Given the description of an element on the screen output the (x, y) to click on. 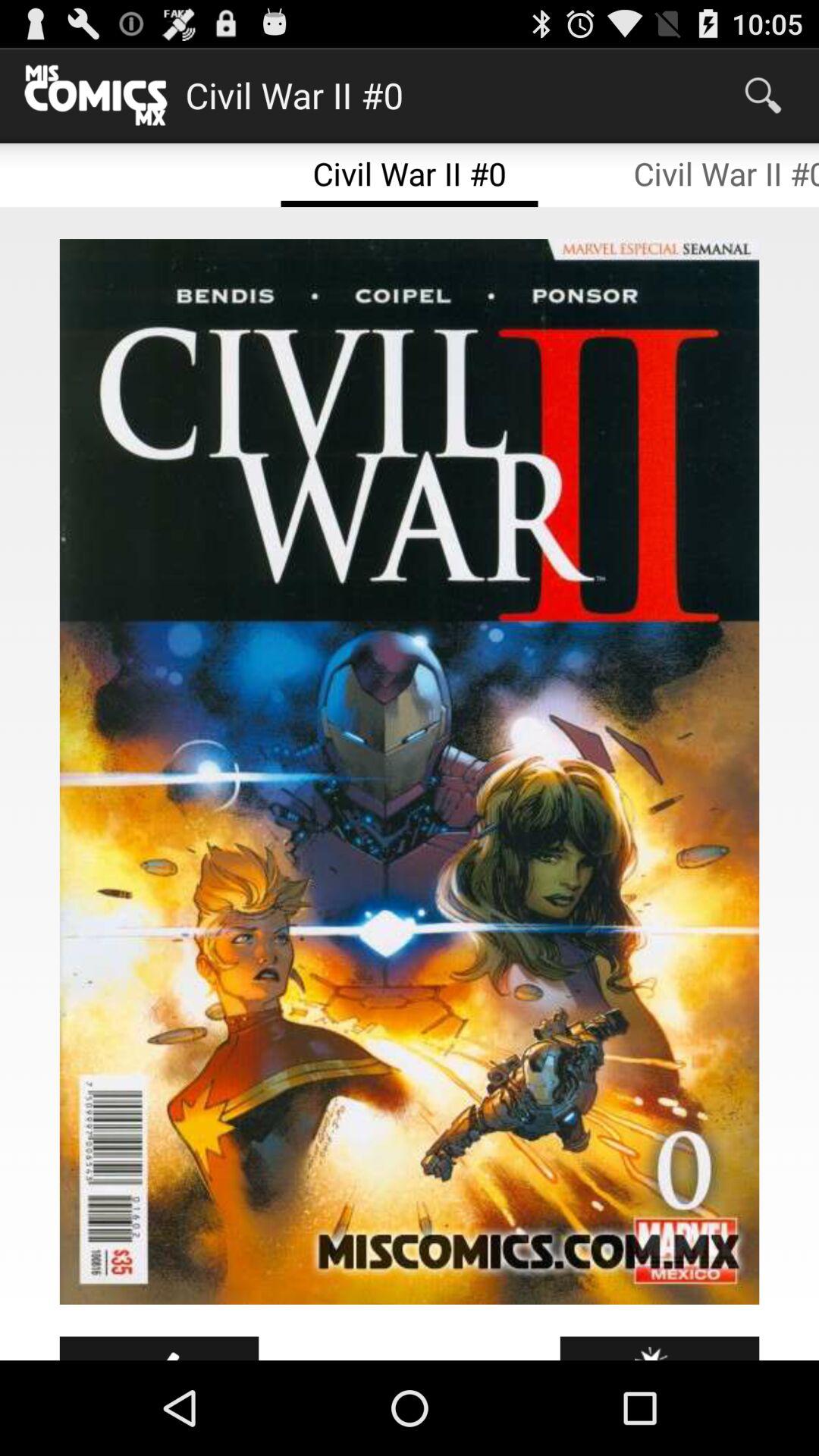
turn on icon at the bottom right corner (659, 1348)
